Given the description of an element on the screen output the (x, y) to click on. 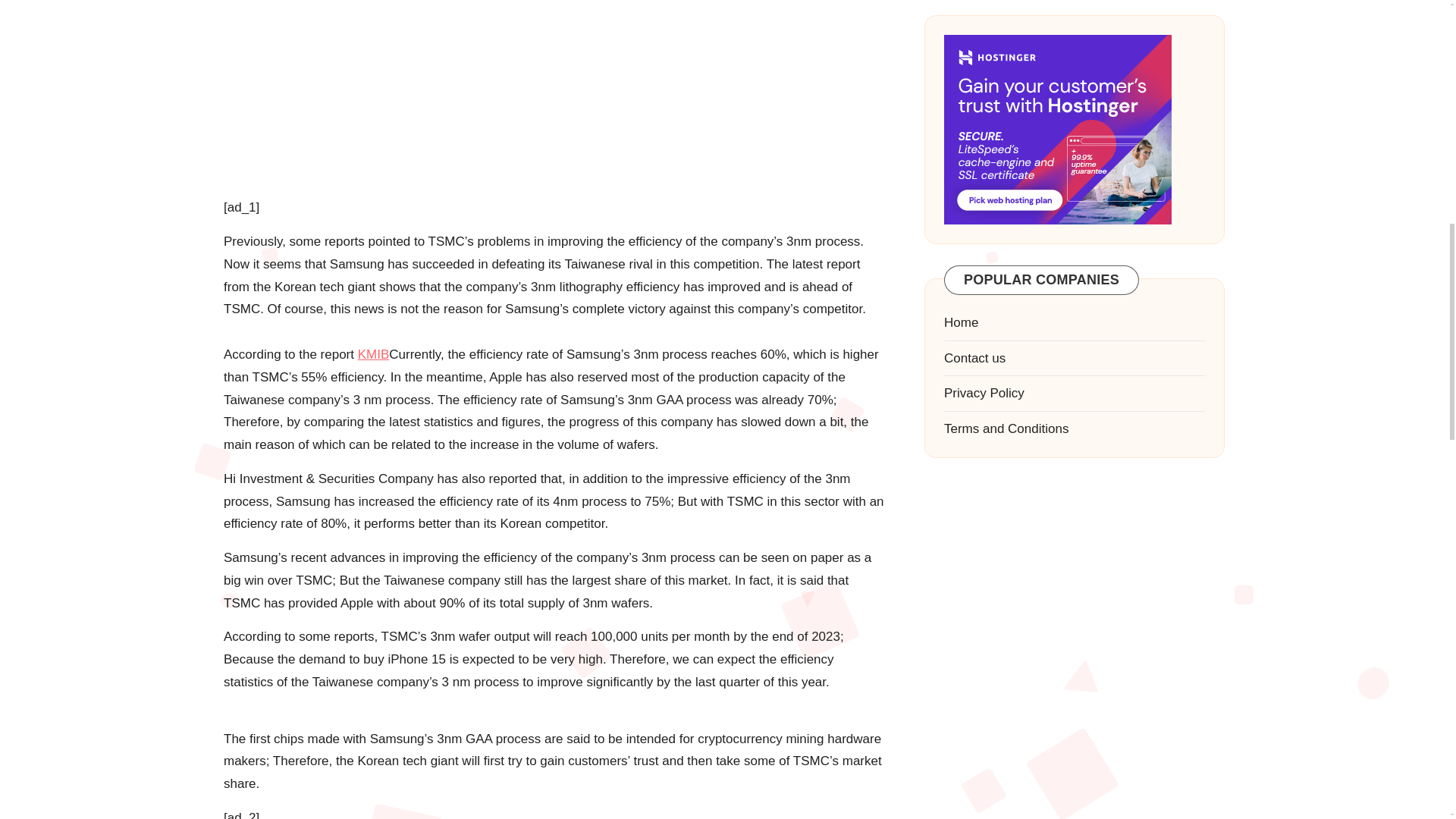
KMIB (374, 354)
